Given the description of an element on the screen output the (x, y) to click on. 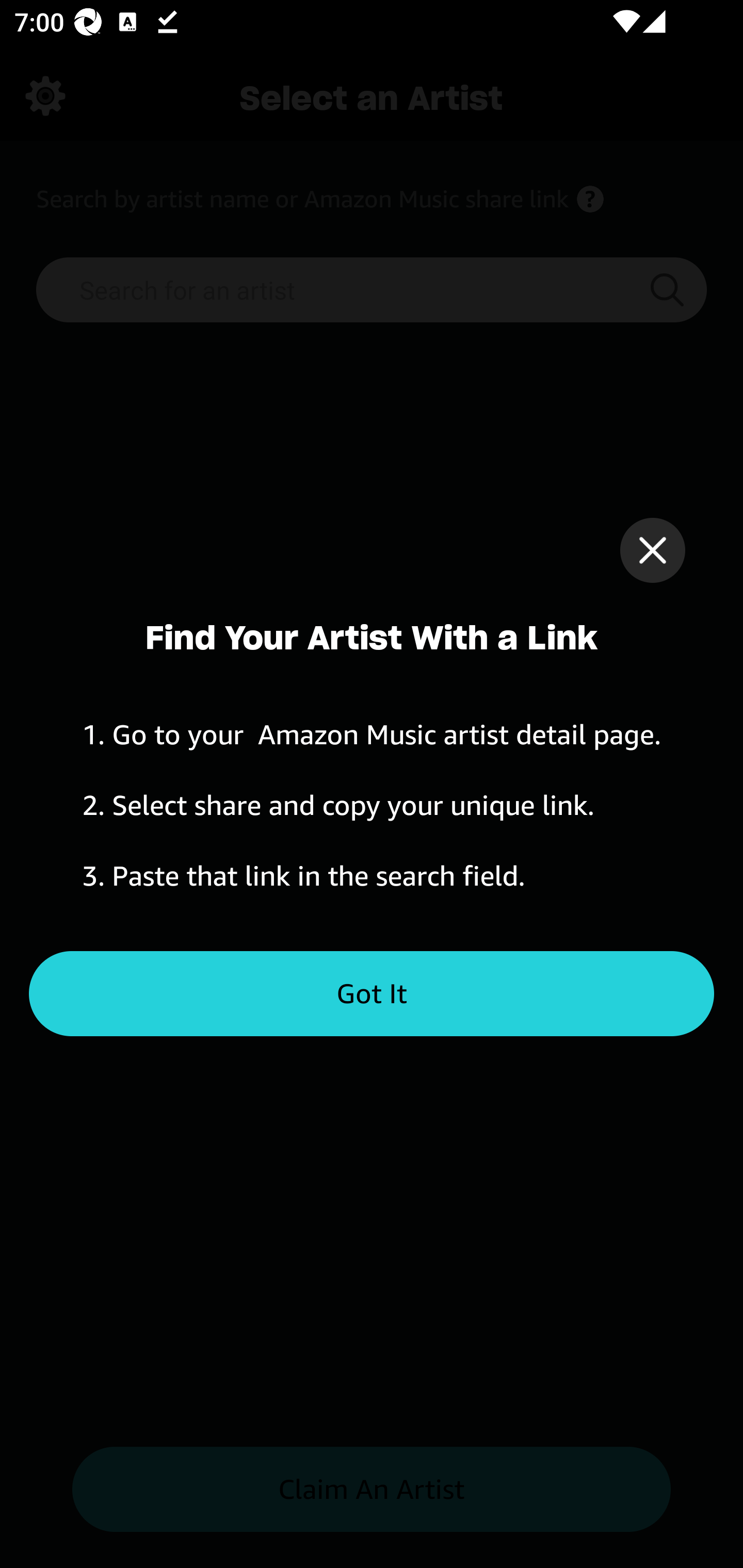
Generic_dismiss  icon (652, 550)
Got it button Got It (371, 993)
